Given the description of an element on the screen output the (x, y) to click on. 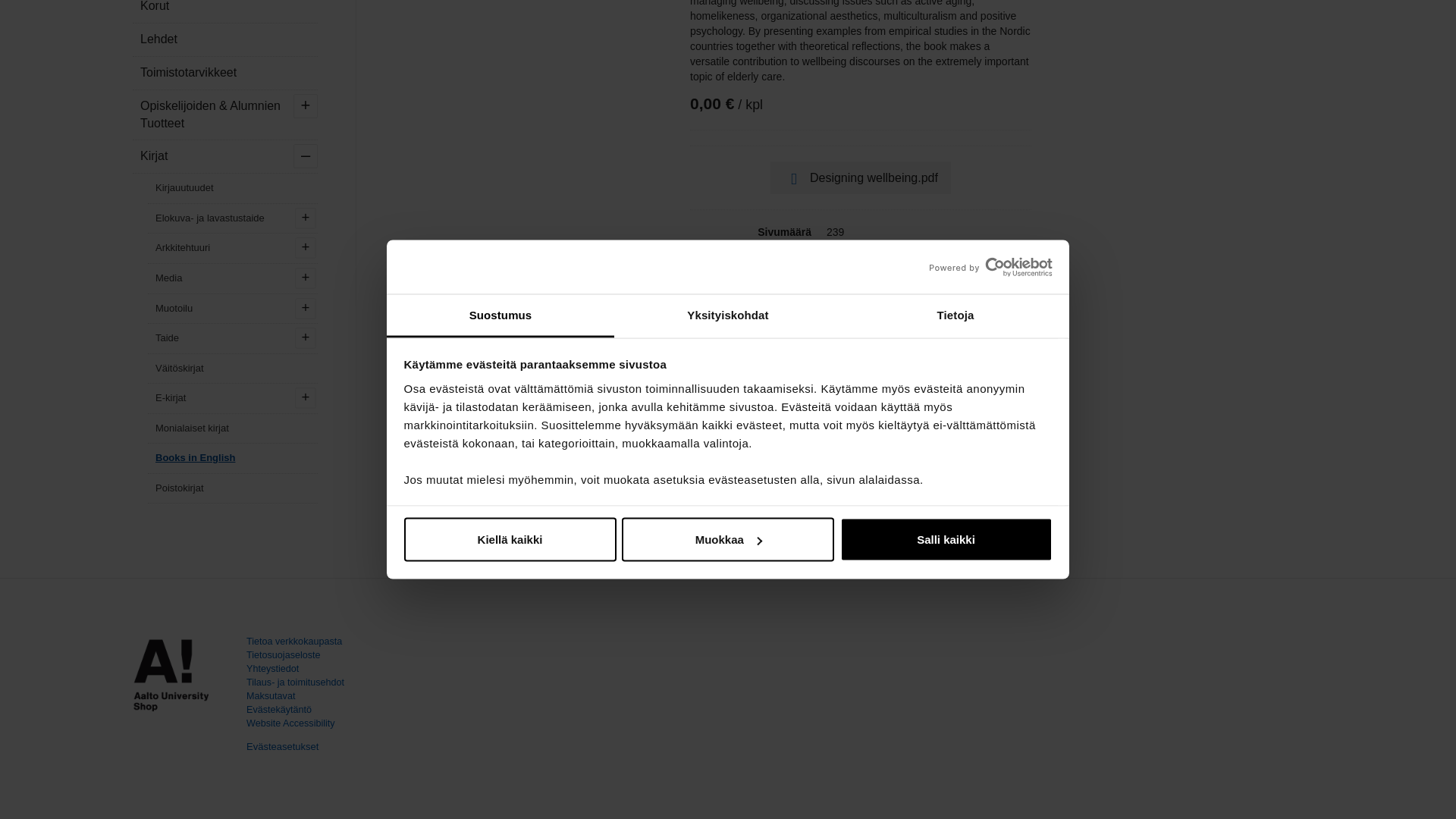
Muokkaa (727, 62)
Salli kaikki (946, 62)
